Given the description of an element on the screen output the (x, y) to click on. 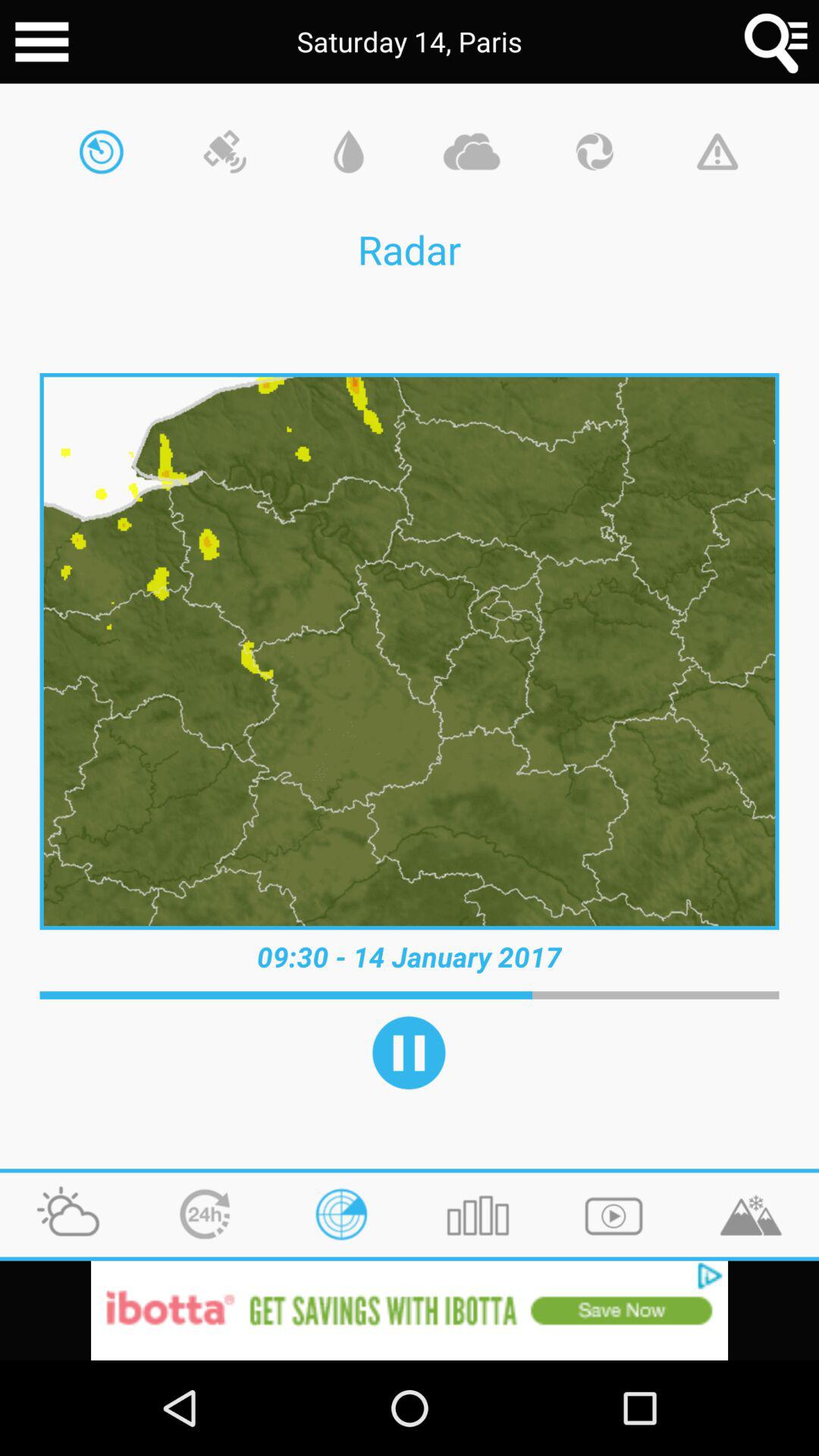
pause (409, 1052)
